Given the description of an element on the screen output the (x, y) to click on. 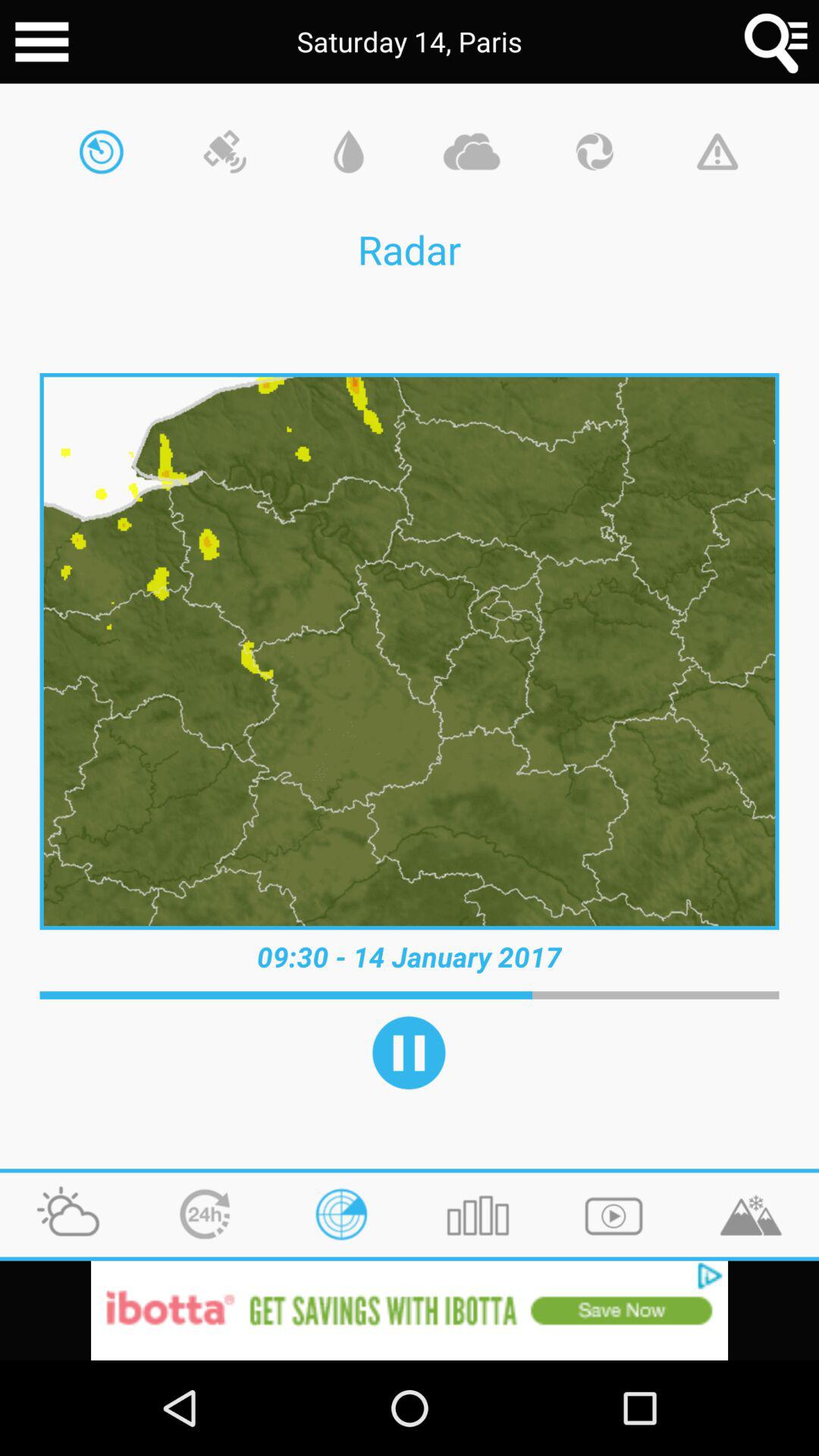
pause (409, 1052)
